Given the description of an element on the screen output the (x, y) to click on. 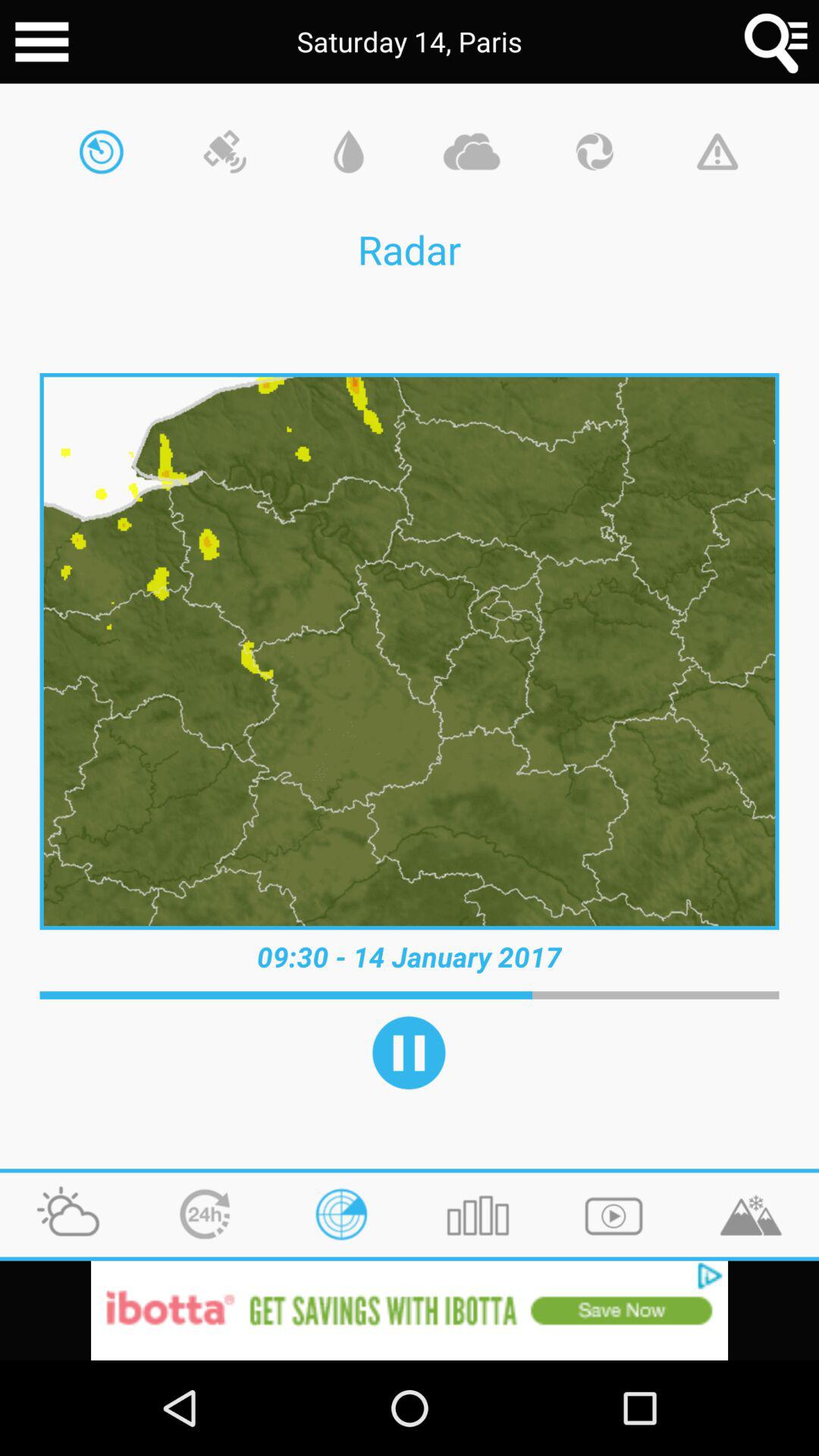
pause (409, 1052)
